Given the description of an element on the screen output the (x, y) to click on. 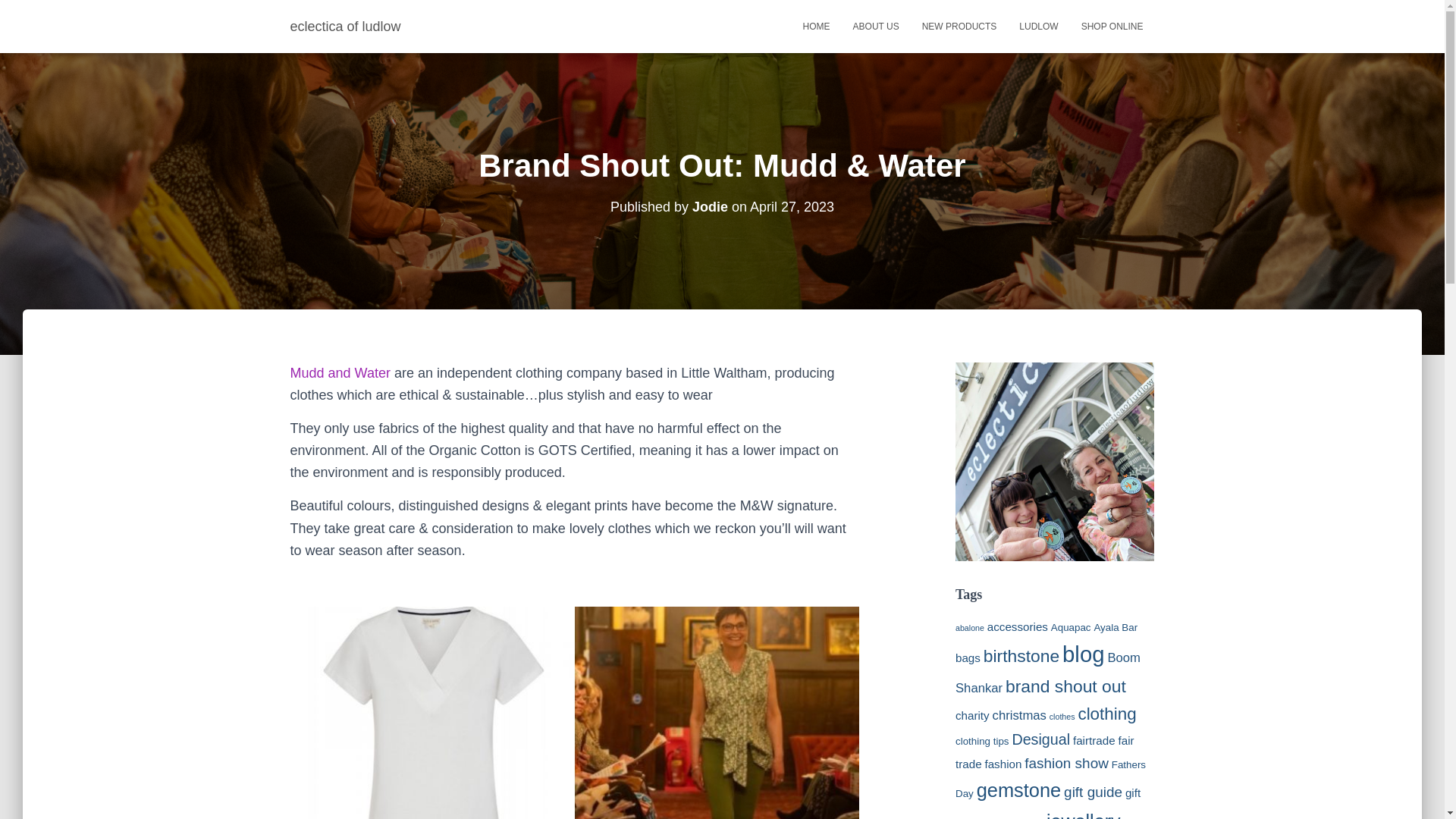
Desigual (1040, 739)
fairtrade (1094, 739)
fair trade (1044, 751)
Mudd and Water (339, 372)
About Us (876, 26)
bags (967, 657)
eclectica of ludlow (345, 26)
Ludlow (1037, 26)
accessories (1017, 626)
Shop Online (1112, 26)
